Given the description of an element on the screen output the (x, y) to click on. 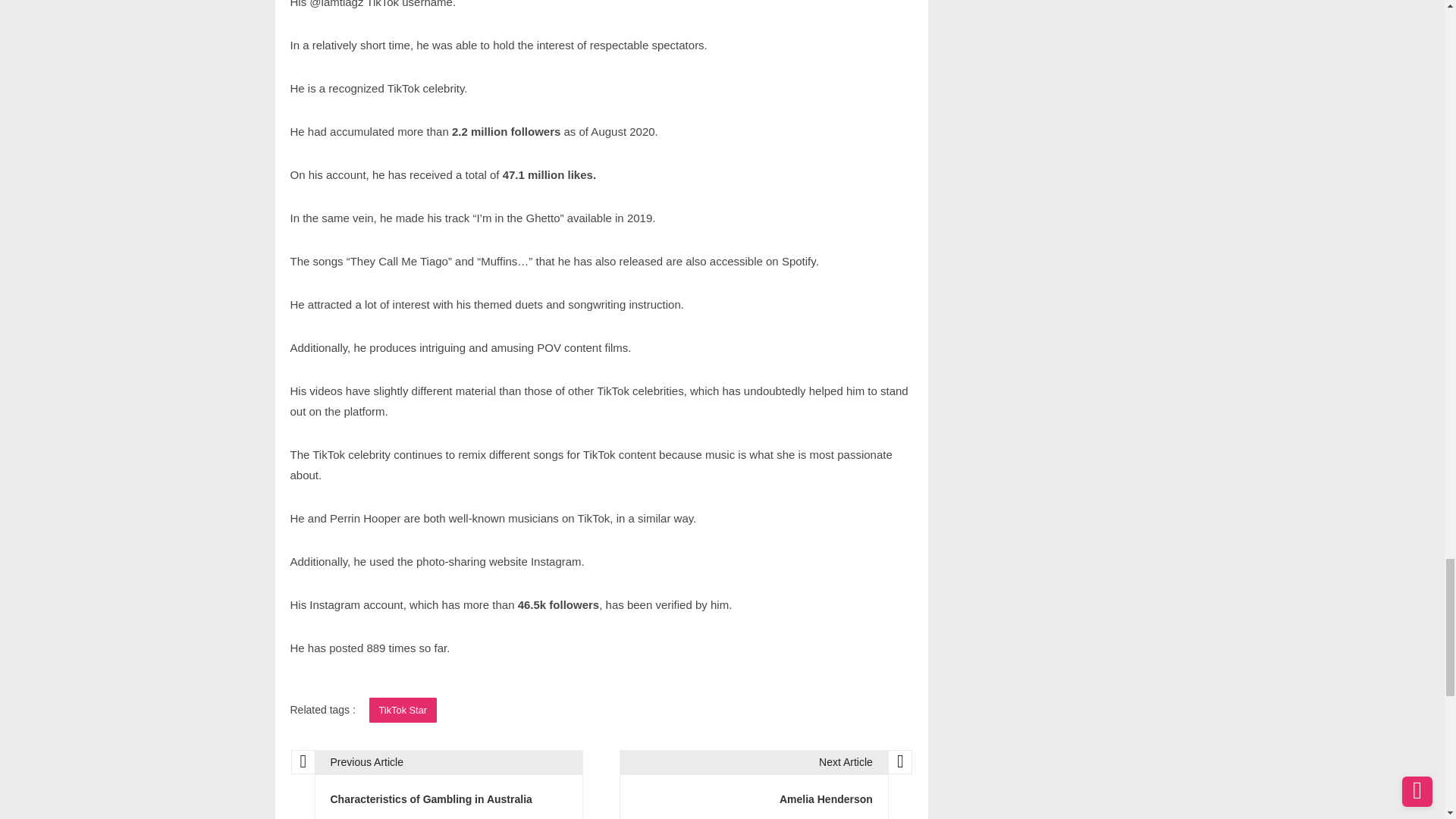
TikTok Star (403, 709)
